Given the description of an element on the screen output the (x, y) to click on. 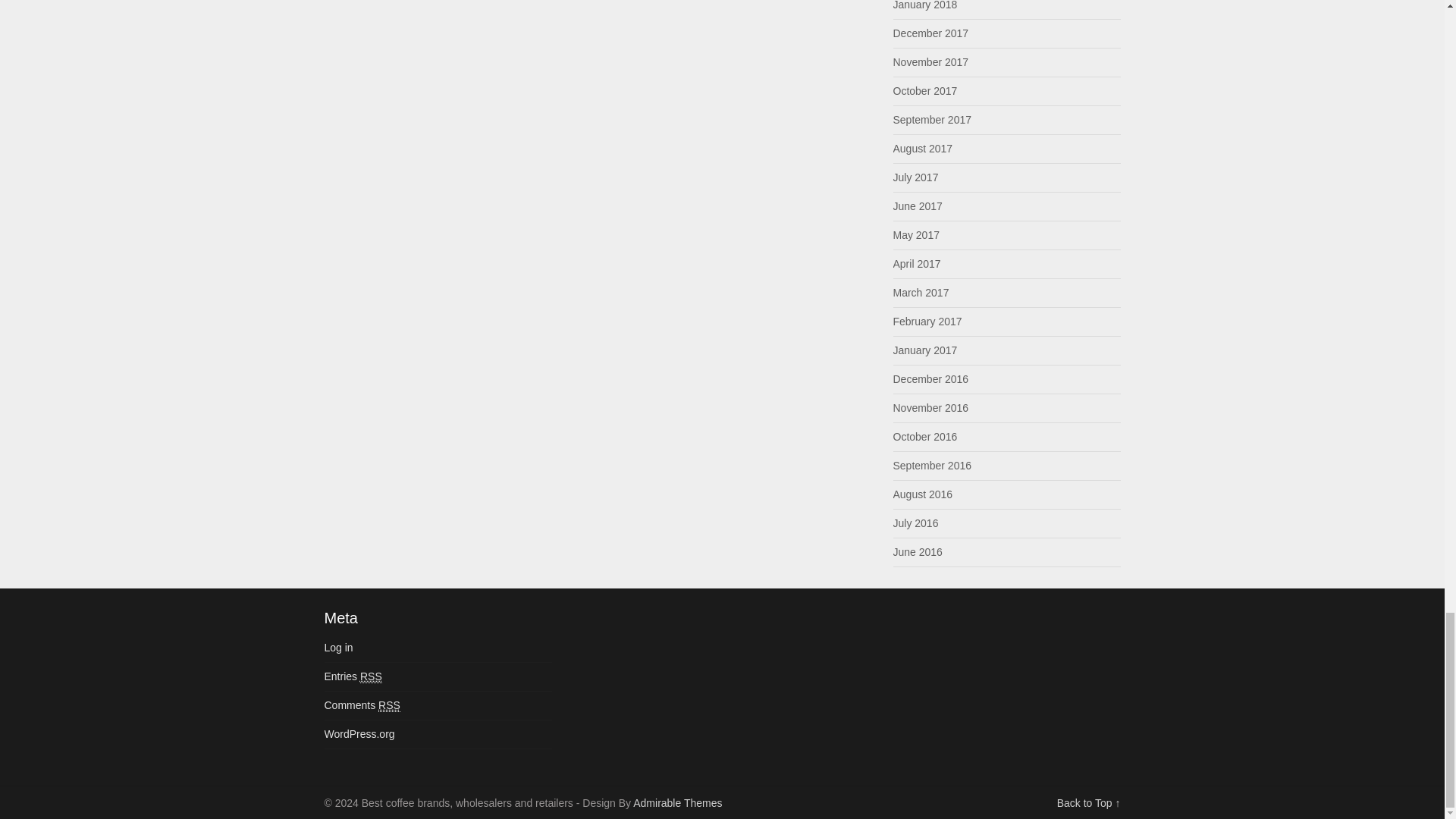
Really Simple Syndication (389, 705)
Really Simple Syndication (370, 676)
